Given the description of an element on the screen output the (x, y) to click on. 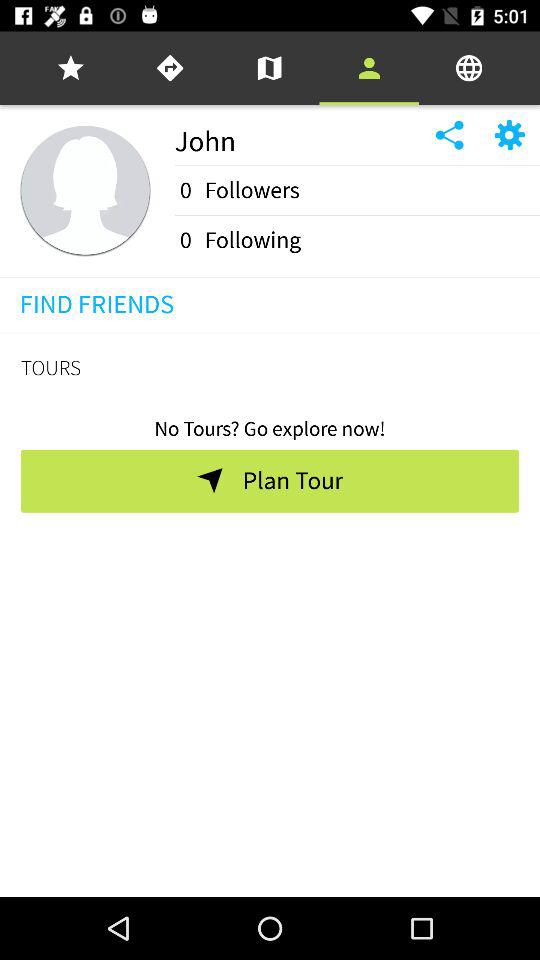
press item below the 0 item (357, 215)
